Given the description of an element on the screen output the (x, y) to click on. 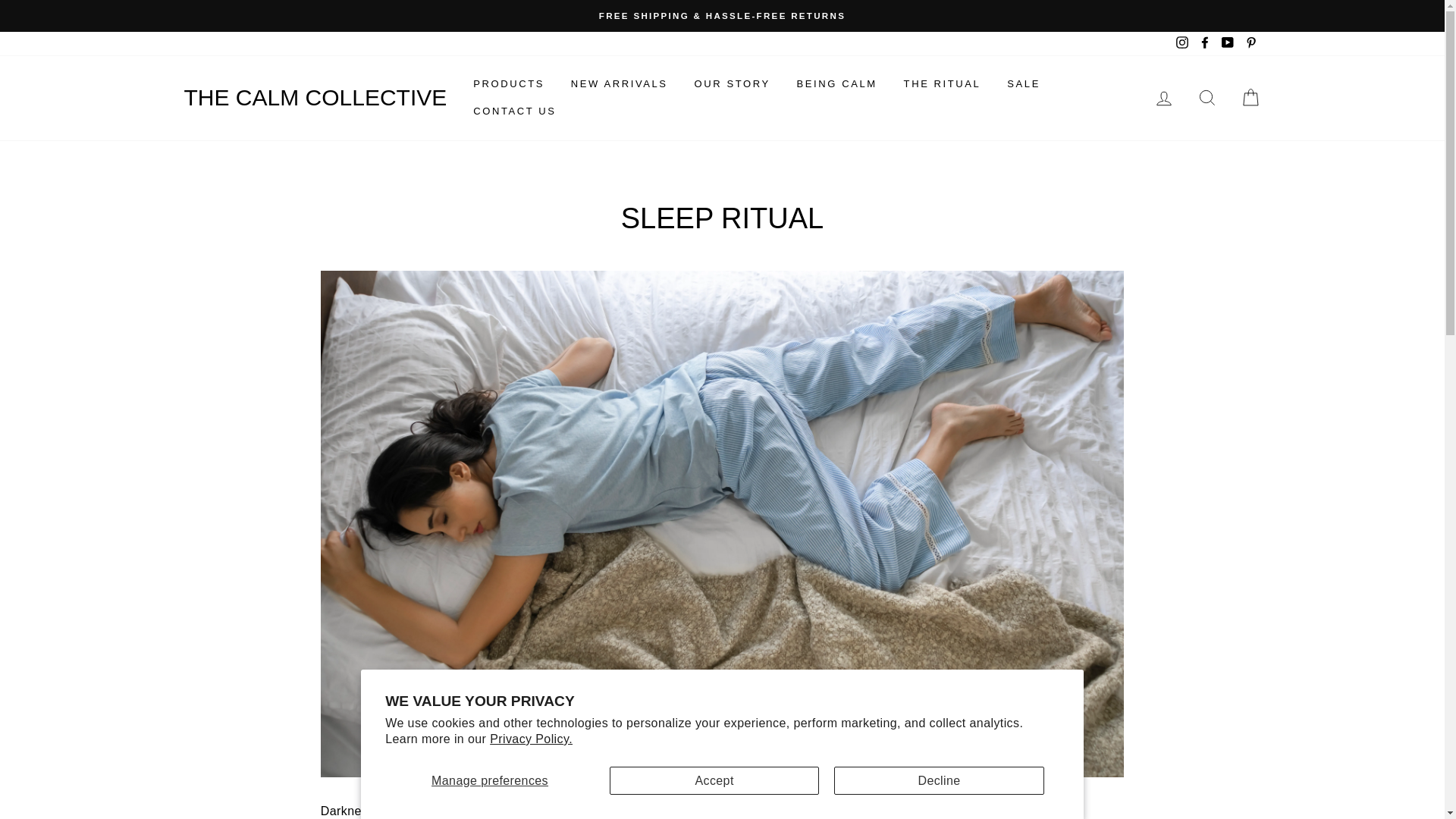
Manage preferences (489, 780)
Privacy Policy. (530, 738)
Decline (938, 780)
Accept (714, 780)
